Given the description of an element on the screen output the (x, y) to click on. 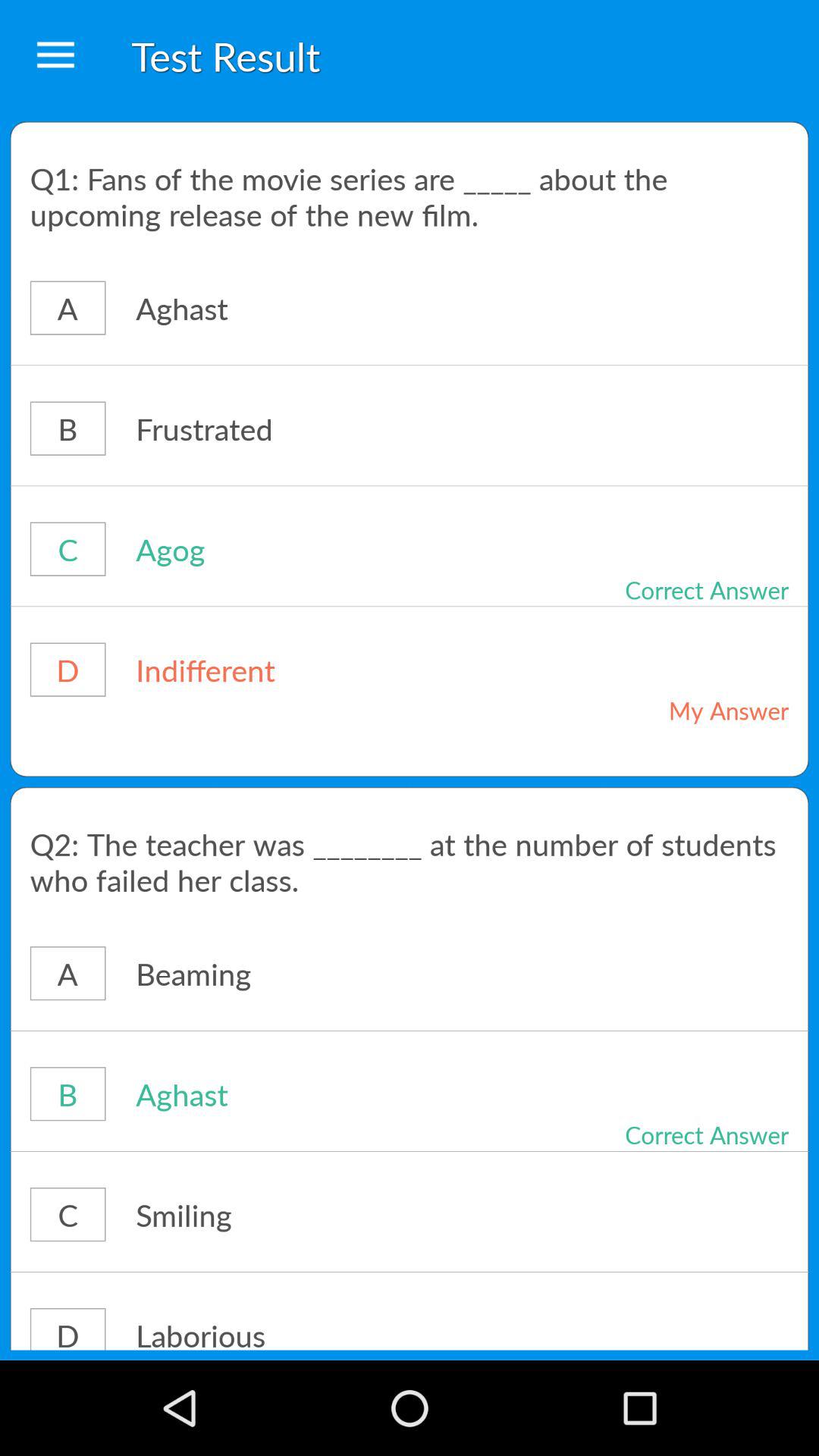
open item next to d (313, 1332)
